Given the description of an element on the screen output the (x, y) to click on. 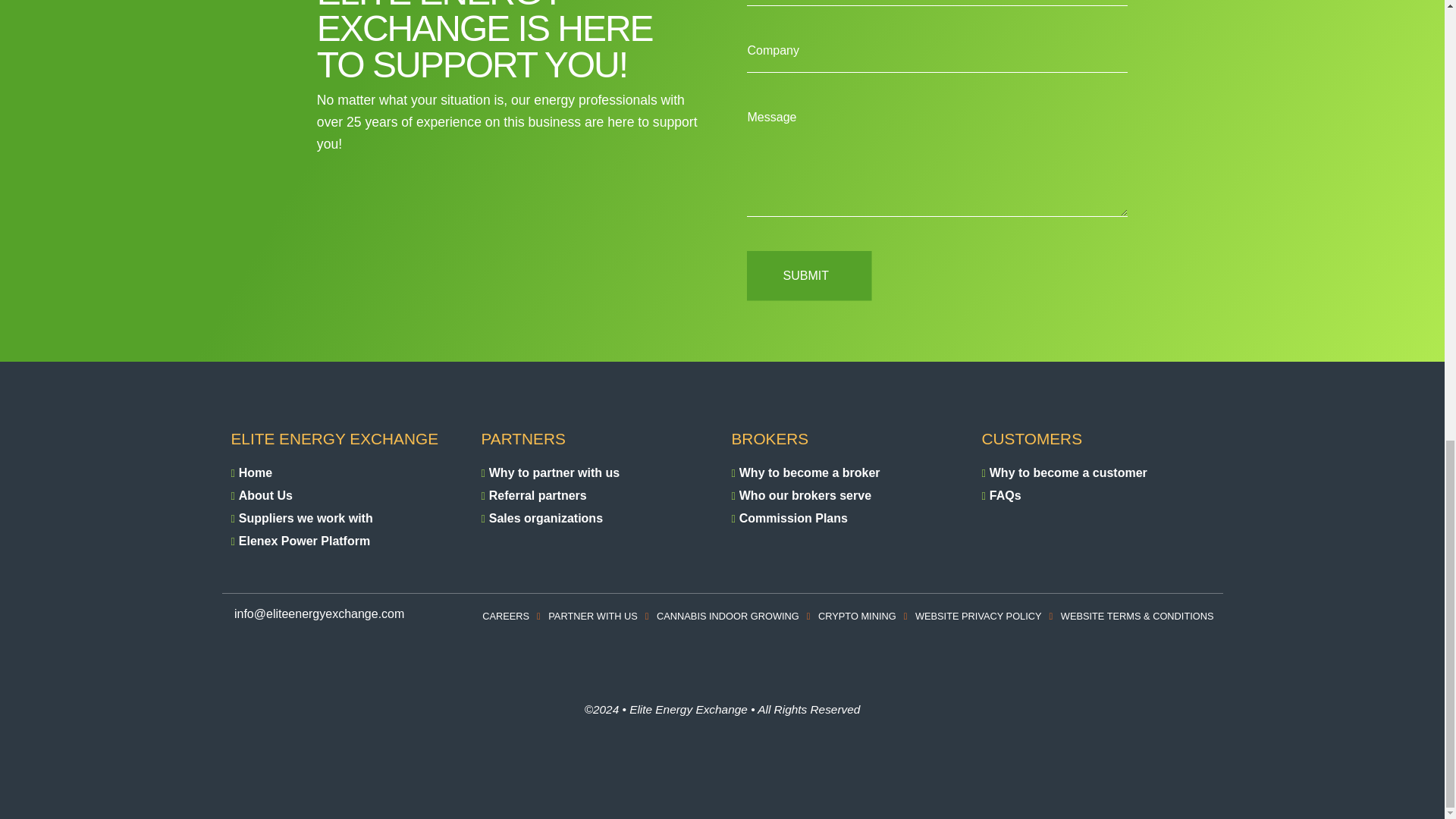
Home (255, 472)
SUBMIT   (807, 275)
About Us (265, 494)
